Given the description of an element on the screen output the (x, y) to click on. 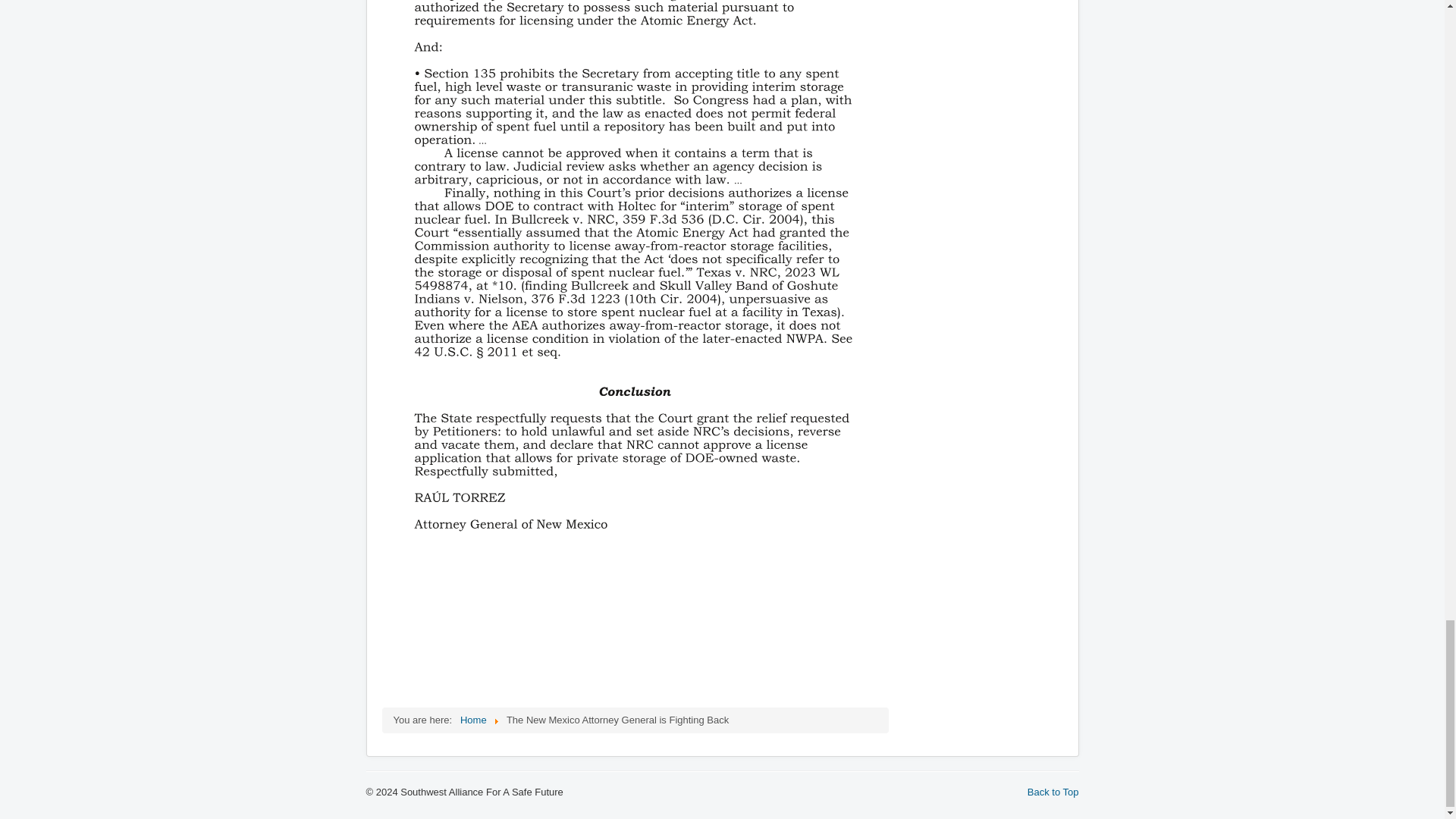
Back to Top (1052, 791)
Home (473, 719)
